Given the description of an element on the screen output the (x, y) to click on. 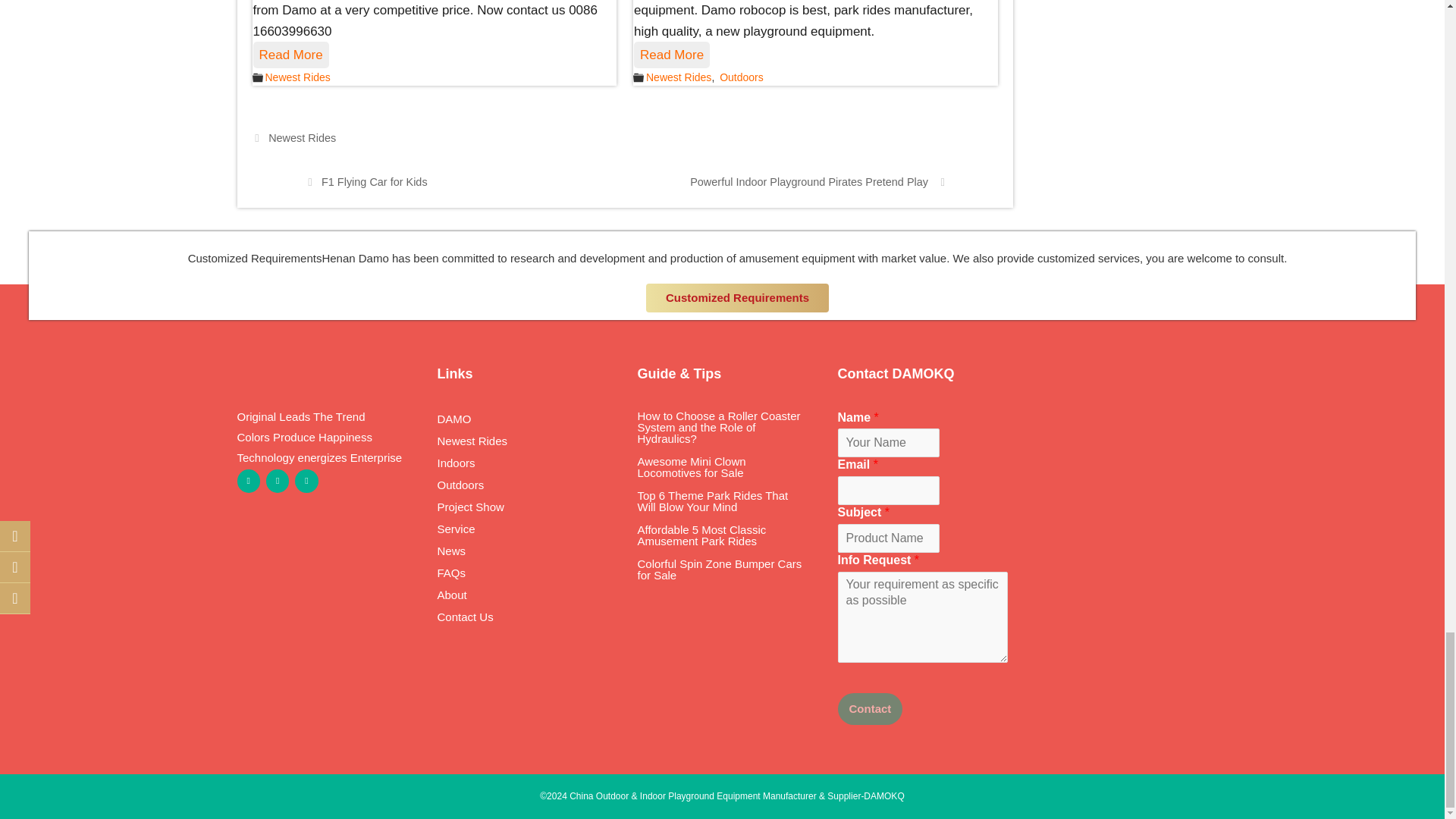
Categories (256, 77)
Categories (638, 77)
